Given the description of an element on the screen output the (x, y) to click on. 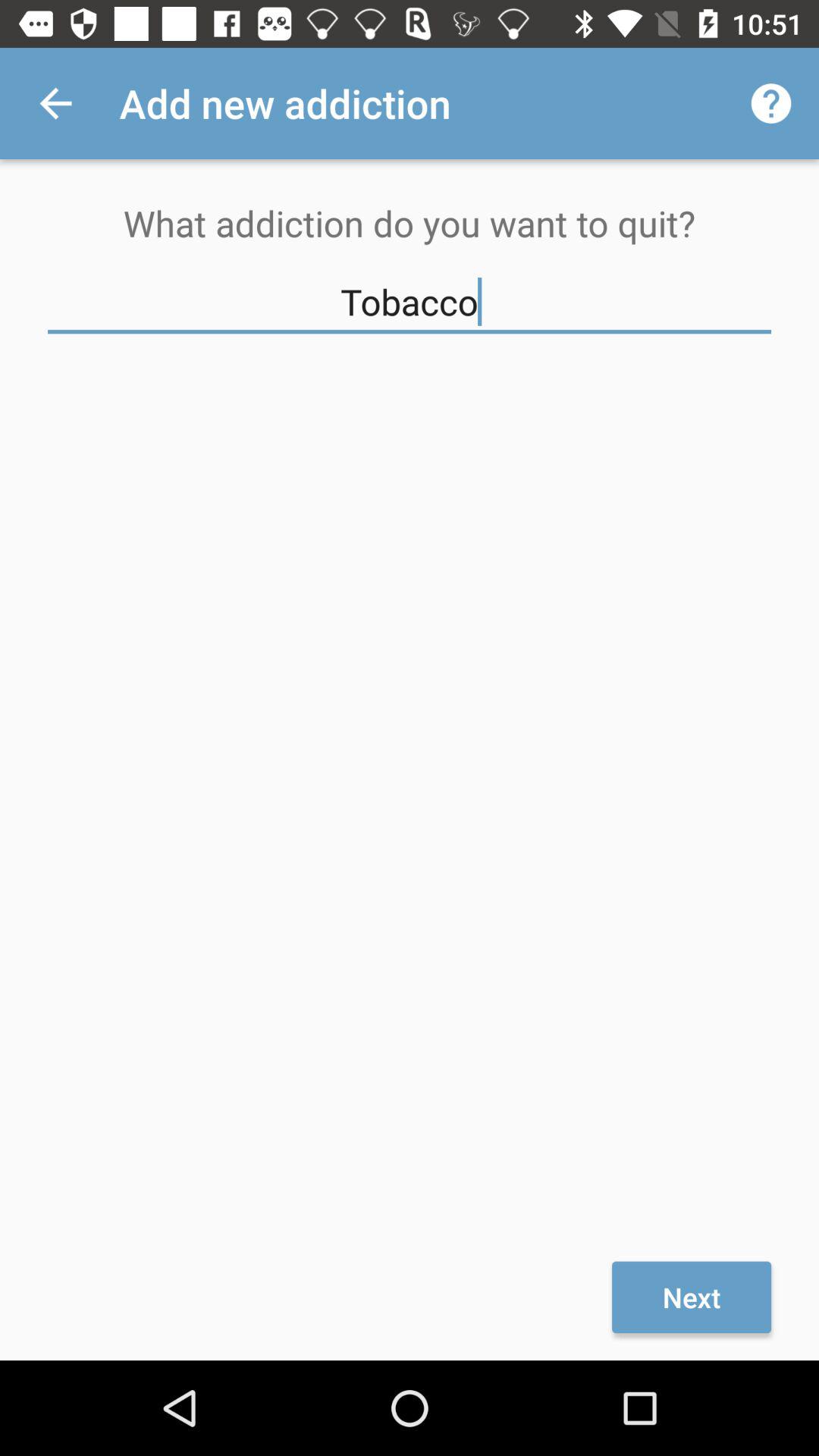
click next item (691, 1297)
